Given the description of an element on the screen output the (x, y) to click on. 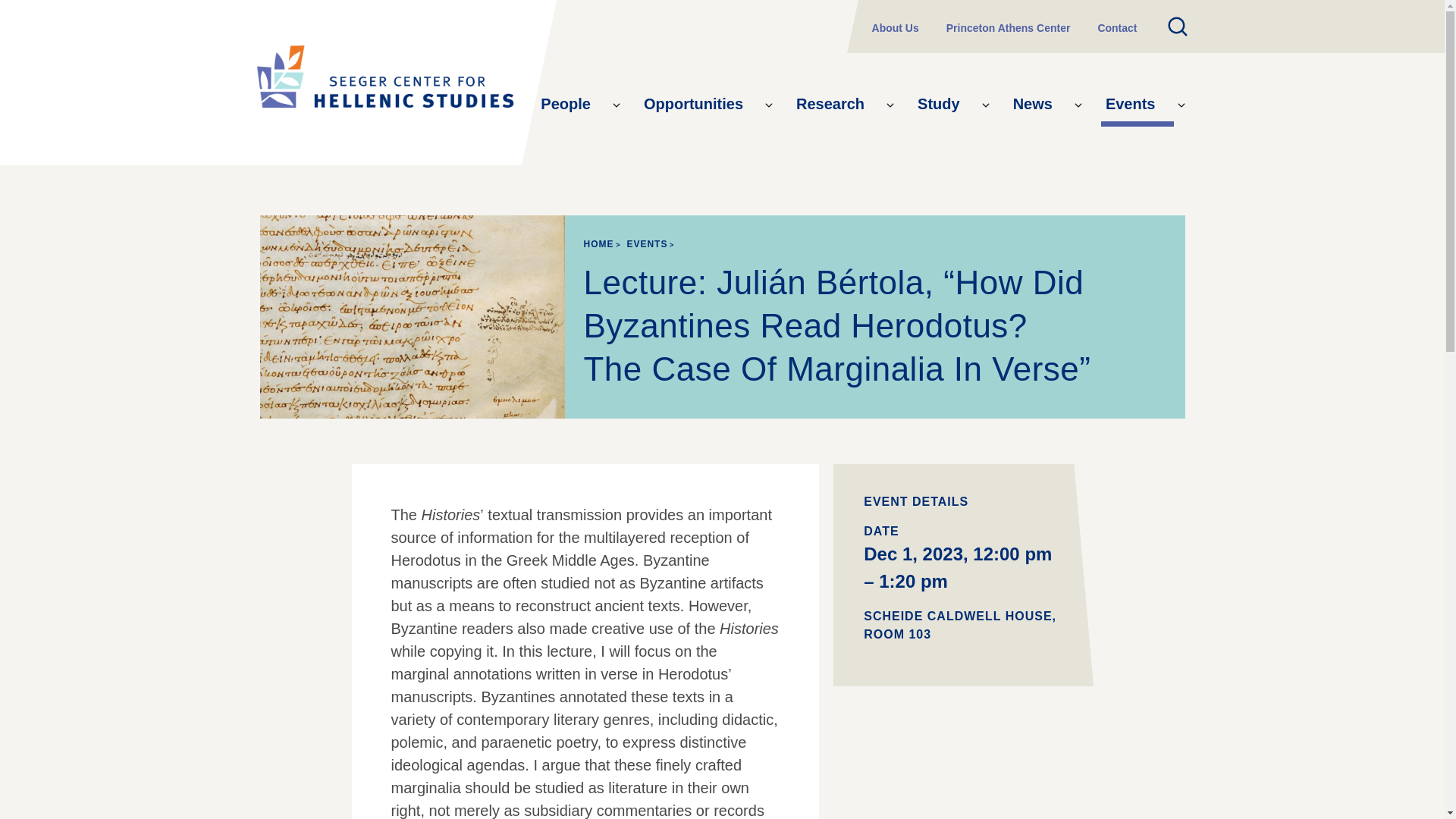
People (571, 104)
Research (837, 104)
Opportunities (700, 104)
Study (945, 104)
Home (383, 82)
